Given the description of an element on the screen output the (x, y) to click on. 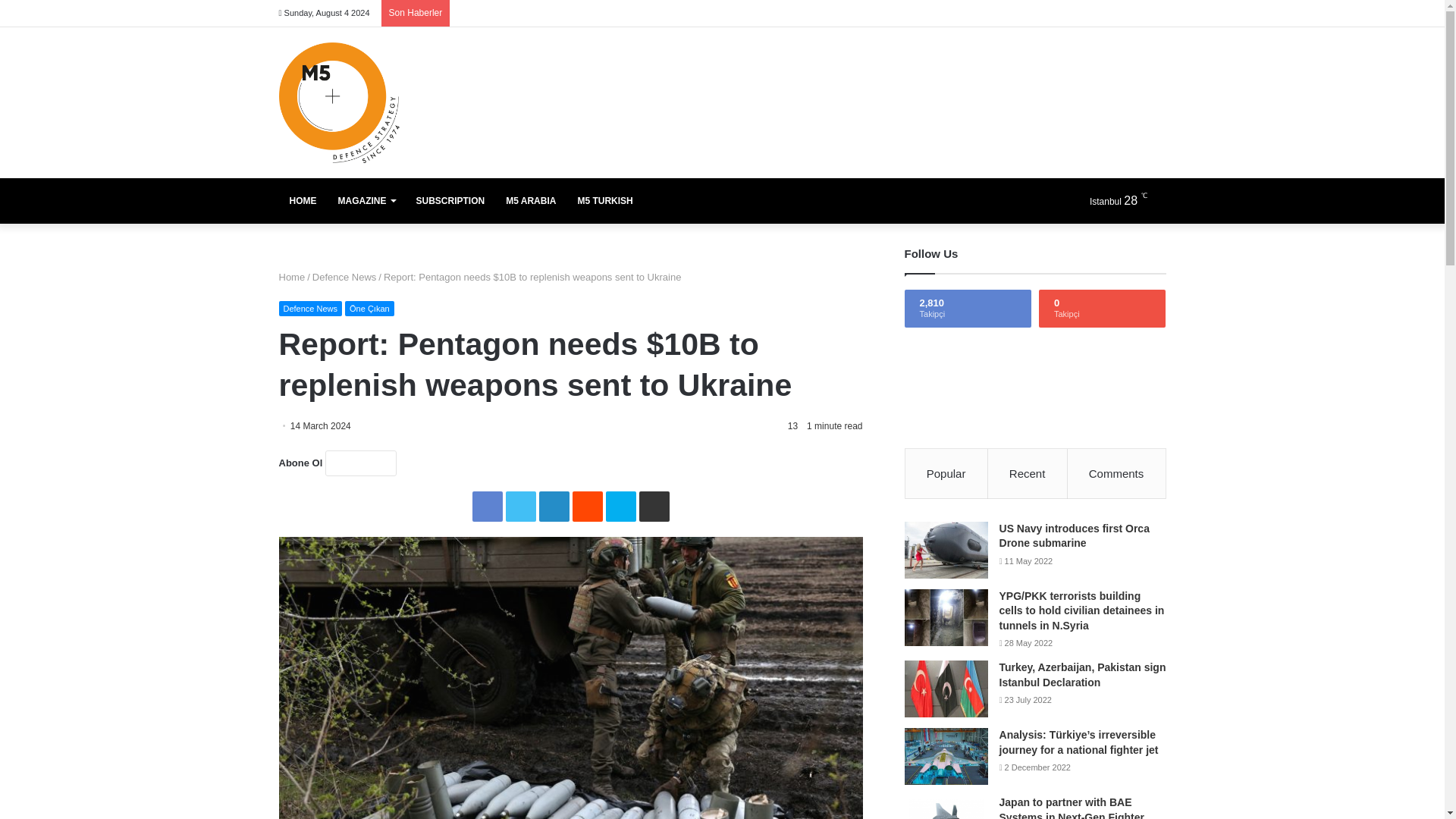
Twitter (520, 506)
M5 TURKISH (604, 200)
Skype (619, 506)
Home (292, 276)
Reddit (587, 506)
M5 ARABIA (530, 200)
Share via Email (653, 506)
LinkedIn (553, 506)
HOME (303, 200)
Clear Sky (1125, 199)
